Given the description of an element on the screen output the (x, y) to click on. 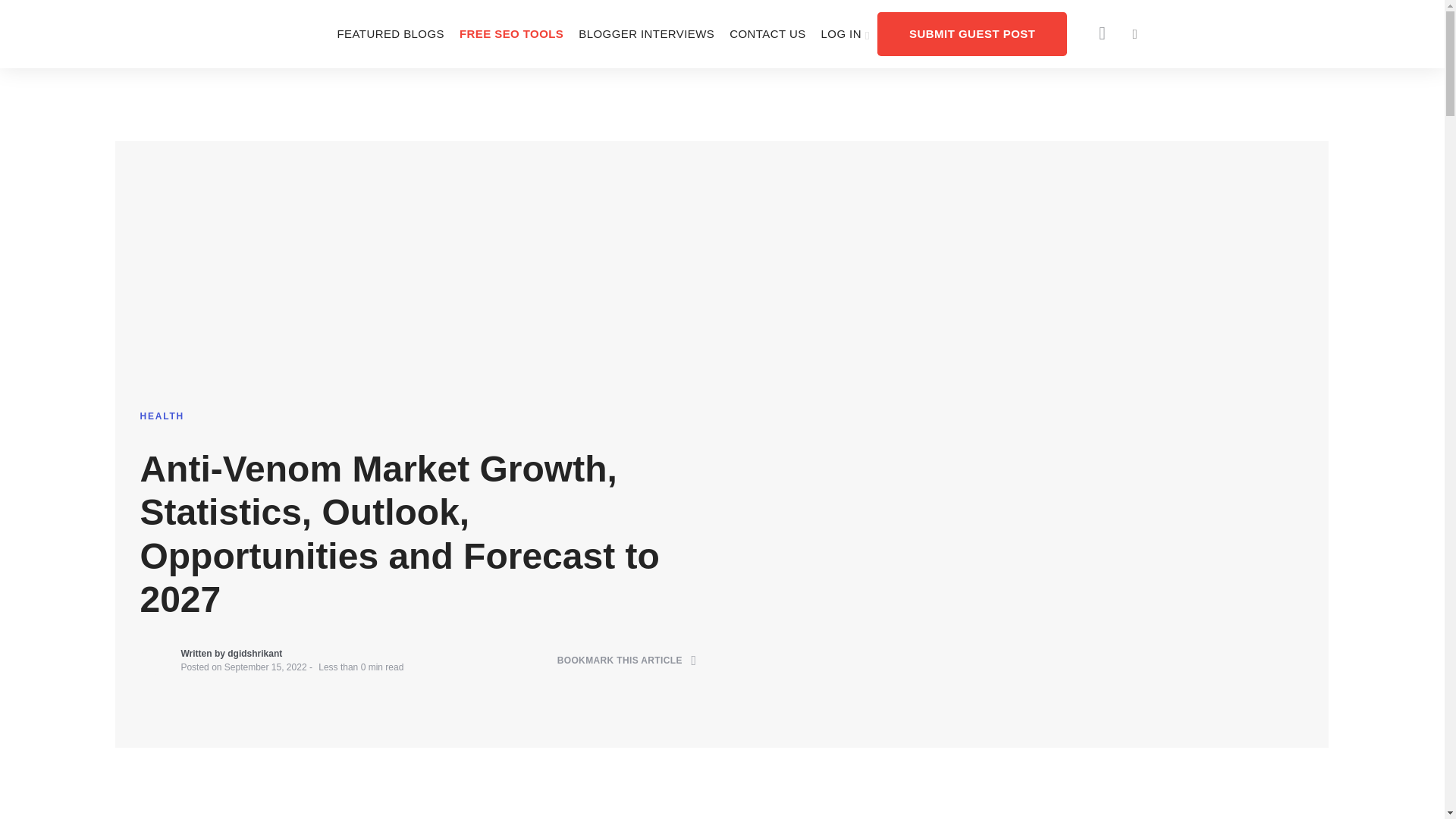
LOG IN (845, 33)
SUBMIT GUEST POST (972, 33)
FREE SEO TOOLS (510, 33)
CONTACT US (767, 33)
HEALTH (161, 416)
SUBMIT GUEST POST (972, 33)
FREE SEO TOOLS (510, 33)
September 15, 2022 (265, 666)
FEATURED BLOGS (390, 33)
BLOGGER INTERVIEWS (646, 33)
